Given the description of an element on the screen output the (x, y) to click on. 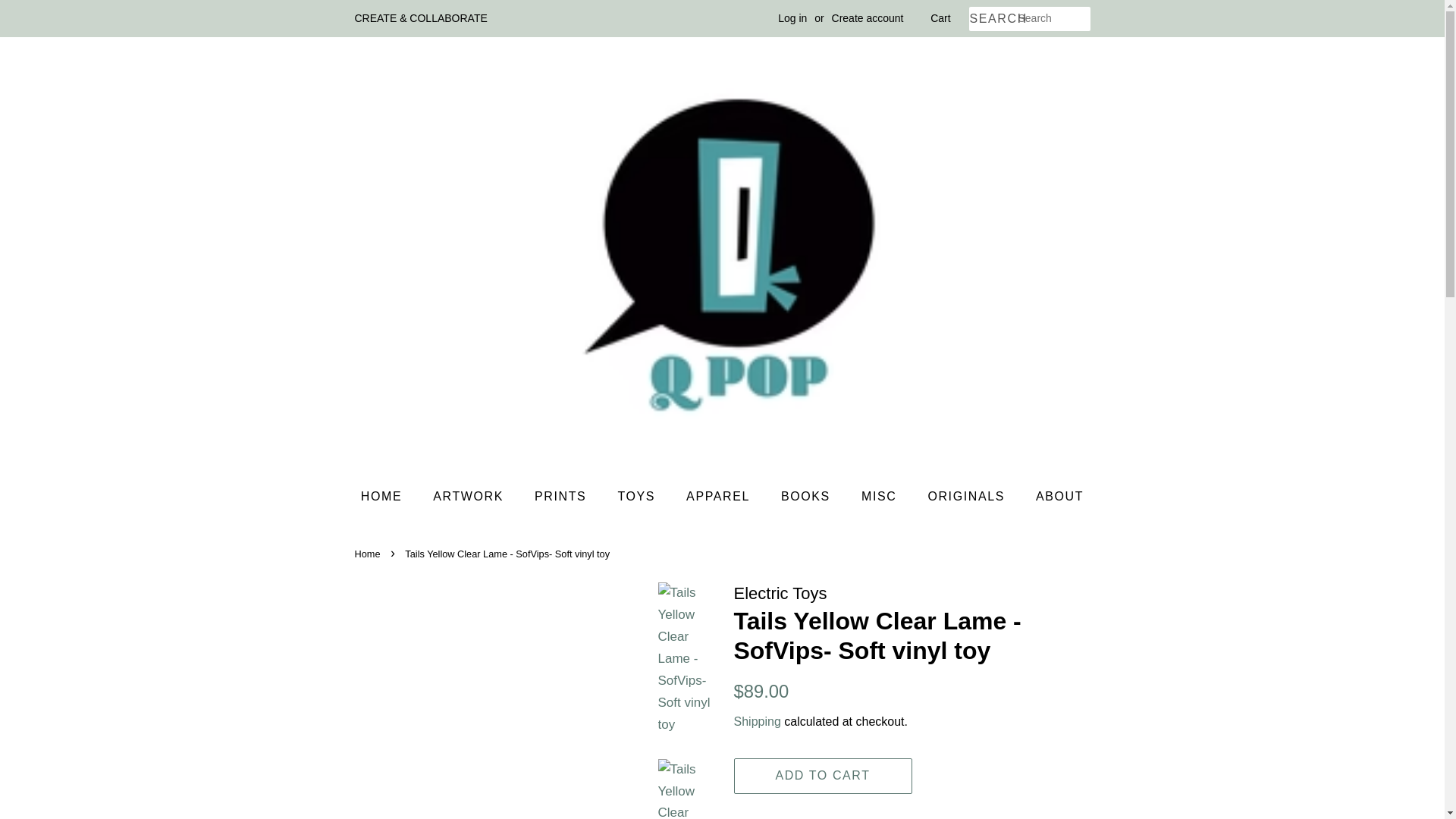
APPAREL (720, 495)
SEARCH (993, 18)
PRINTS (561, 495)
ORIGINALS (967, 495)
TOYS (637, 495)
Back to the frontpage (369, 553)
Create account (867, 18)
Log in (791, 18)
ARTWORK (470, 495)
Home (369, 553)
